Given the description of an element on the screen output the (x, y) to click on. 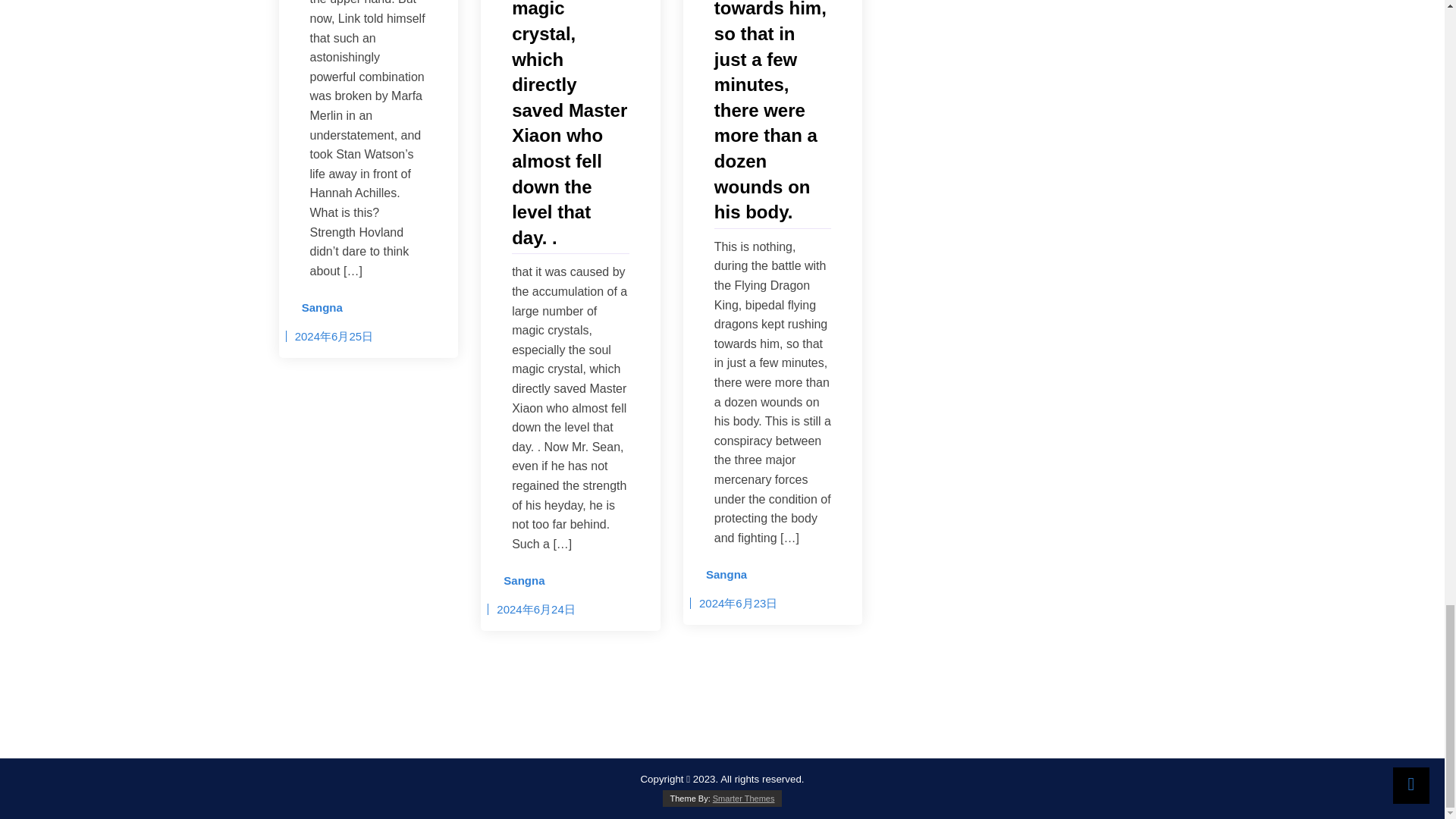
Sangna (720, 574)
Sangna (518, 580)
Sangna (316, 307)
Smarter Themes (743, 798)
